Given the description of an element on the screen output the (x, y) to click on. 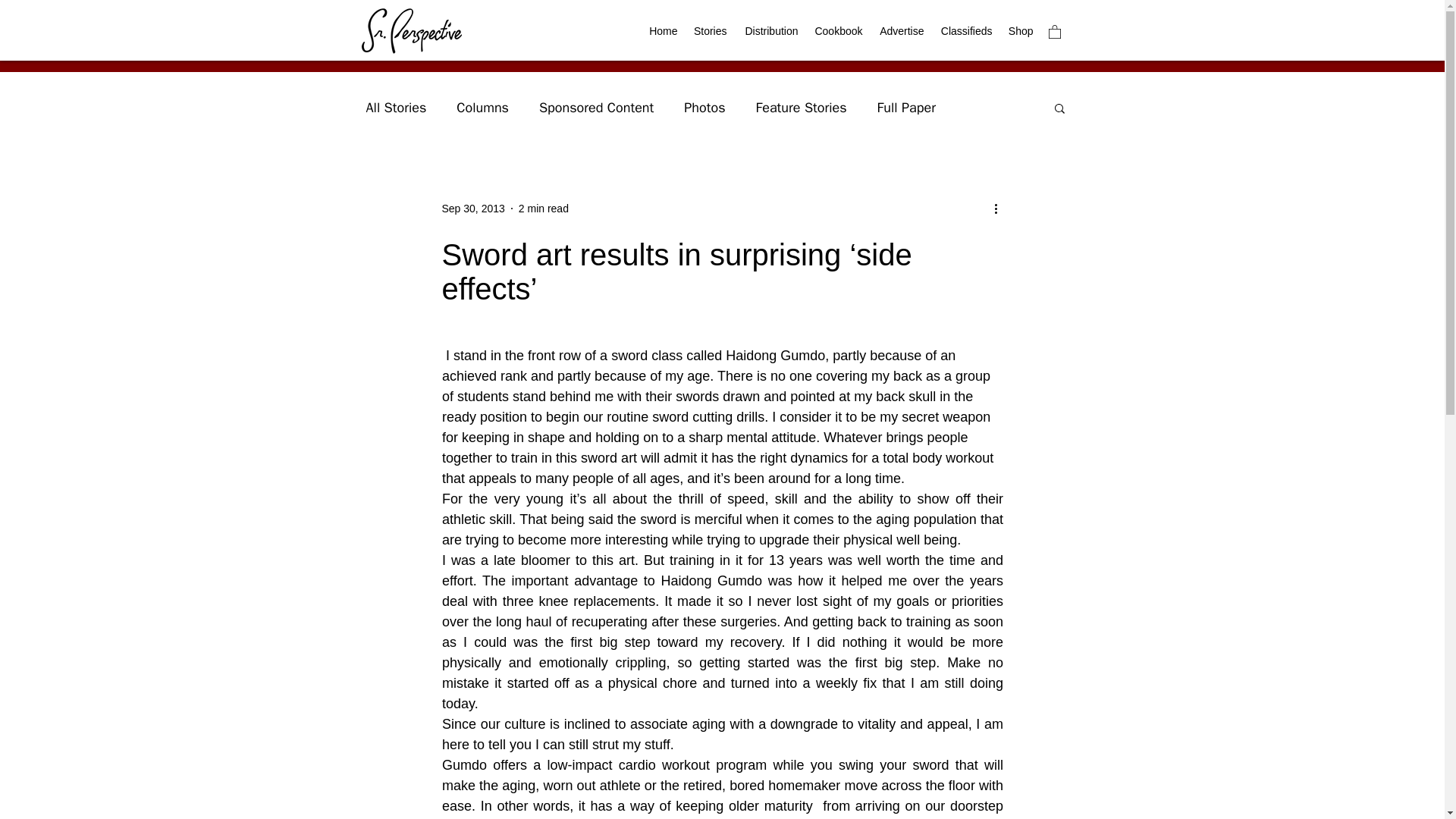
Distribution (769, 31)
Feature Stories (801, 107)
Cookbook (837, 31)
Sponsored Content (595, 107)
Sep 30, 2013 (472, 208)
Stories (710, 31)
Columns (482, 107)
Home (662, 31)
Photos (704, 107)
Advertise (900, 31)
